Given the description of an element on the screen output the (x, y) to click on. 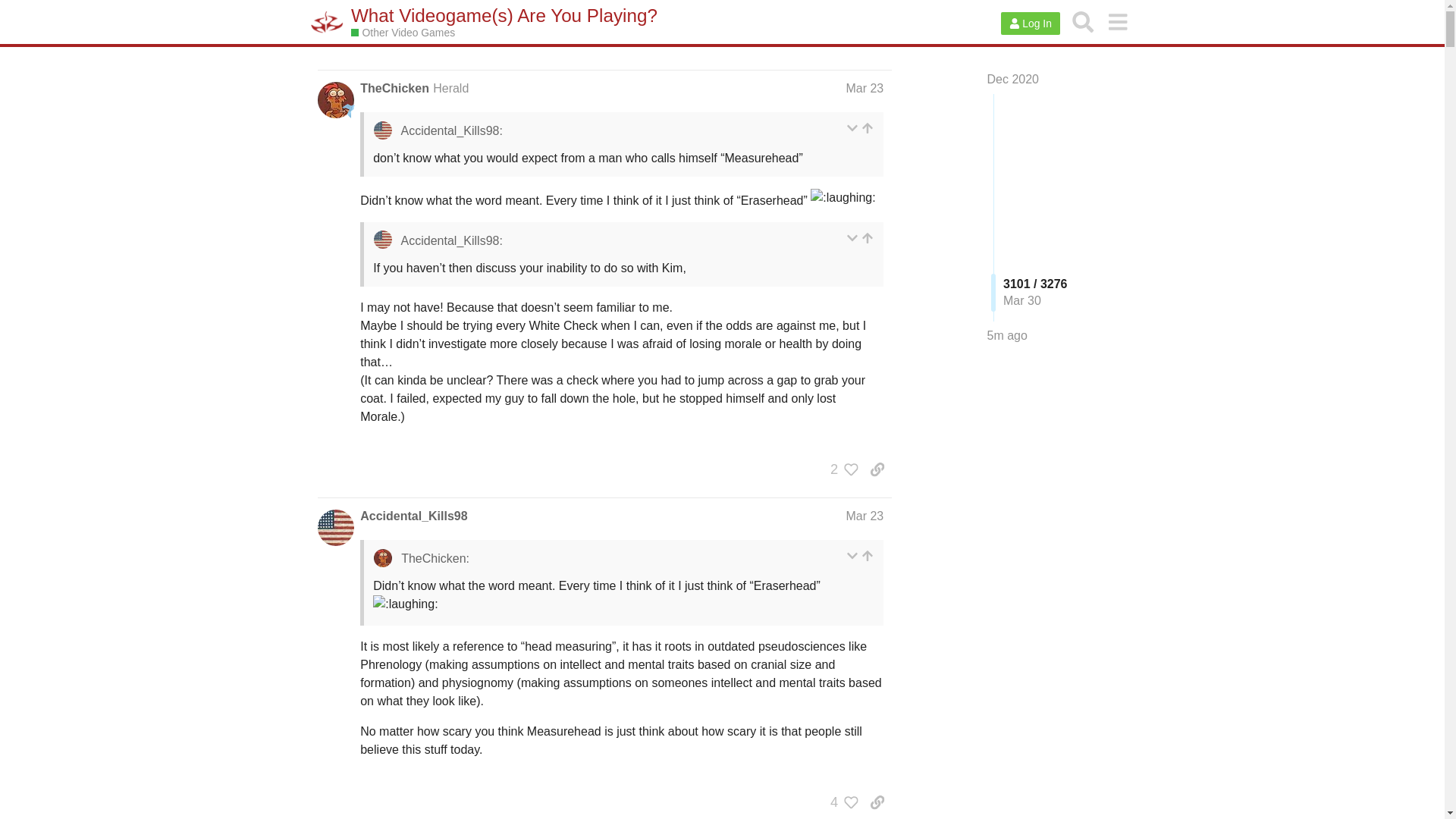
4 (840, 801)
Post date (864, 515)
Jump to the last post (1007, 335)
2 (840, 469)
Heralds (348, 110)
Jump to the first post (1013, 78)
go to the quoted post (867, 237)
Mar 23 (864, 88)
:laughing: (842, 198)
Other Video Games (402, 32)
Log In (1030, 23)
menu (1117, 21)
go to the quoted post (867, 128)
TheChicken (394, 88)
Herald (450, 88)
